Given the description of an element on the screen output the (x, y) to click on. 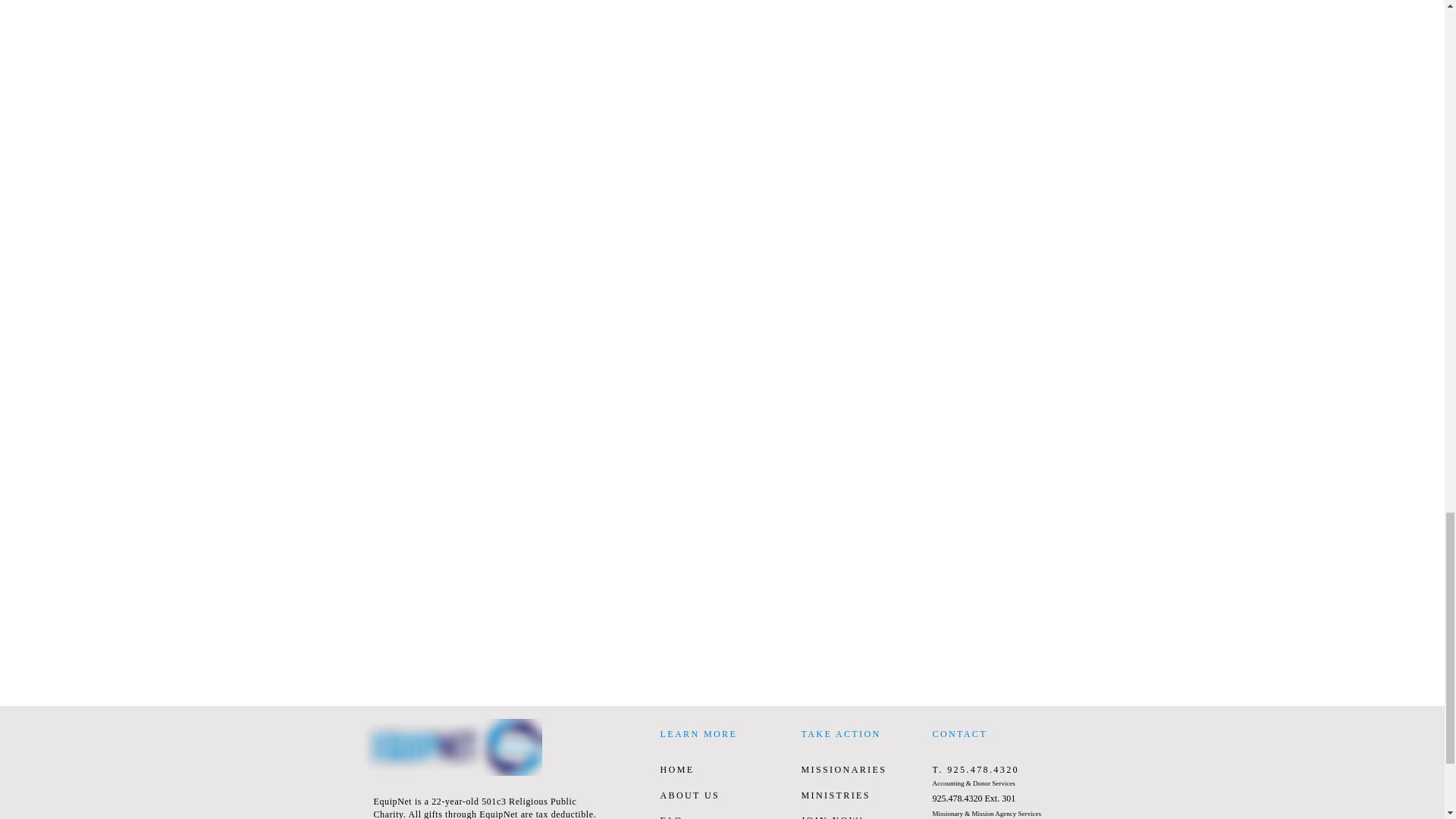
JOIN NOW! (831, 816)
FAQ (670, 816)
HOME (676, 769)
MISSIONARIES (843, 769)
MINISTRIES (834, 795)
ABOUT US (689, 795)
